Given the description of an element on the screen output the (x, y) to click on. 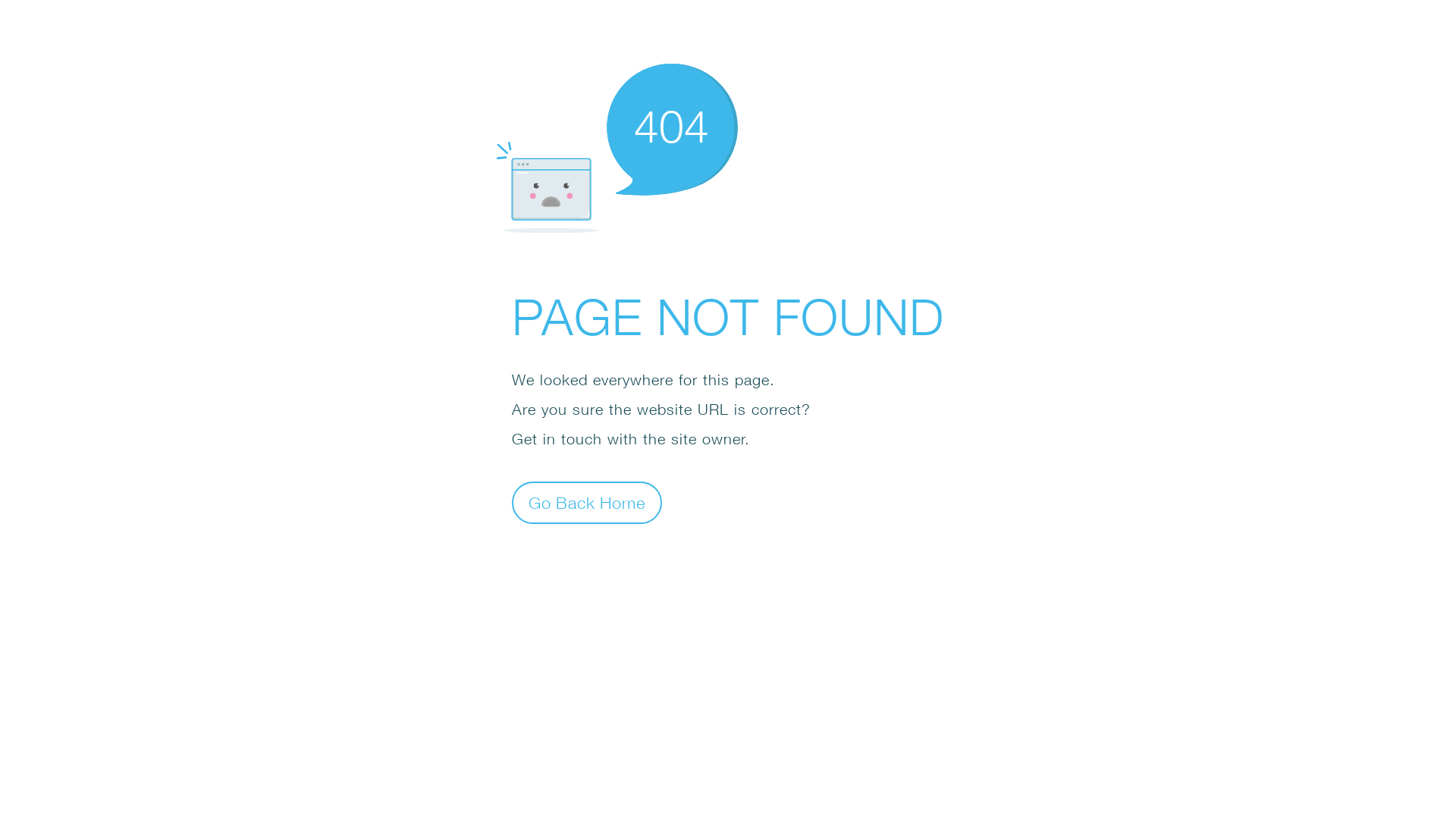
Go Back Home Element type: text (586, 502)
